Given the description of an element on the screen output the (x, y) to click on. 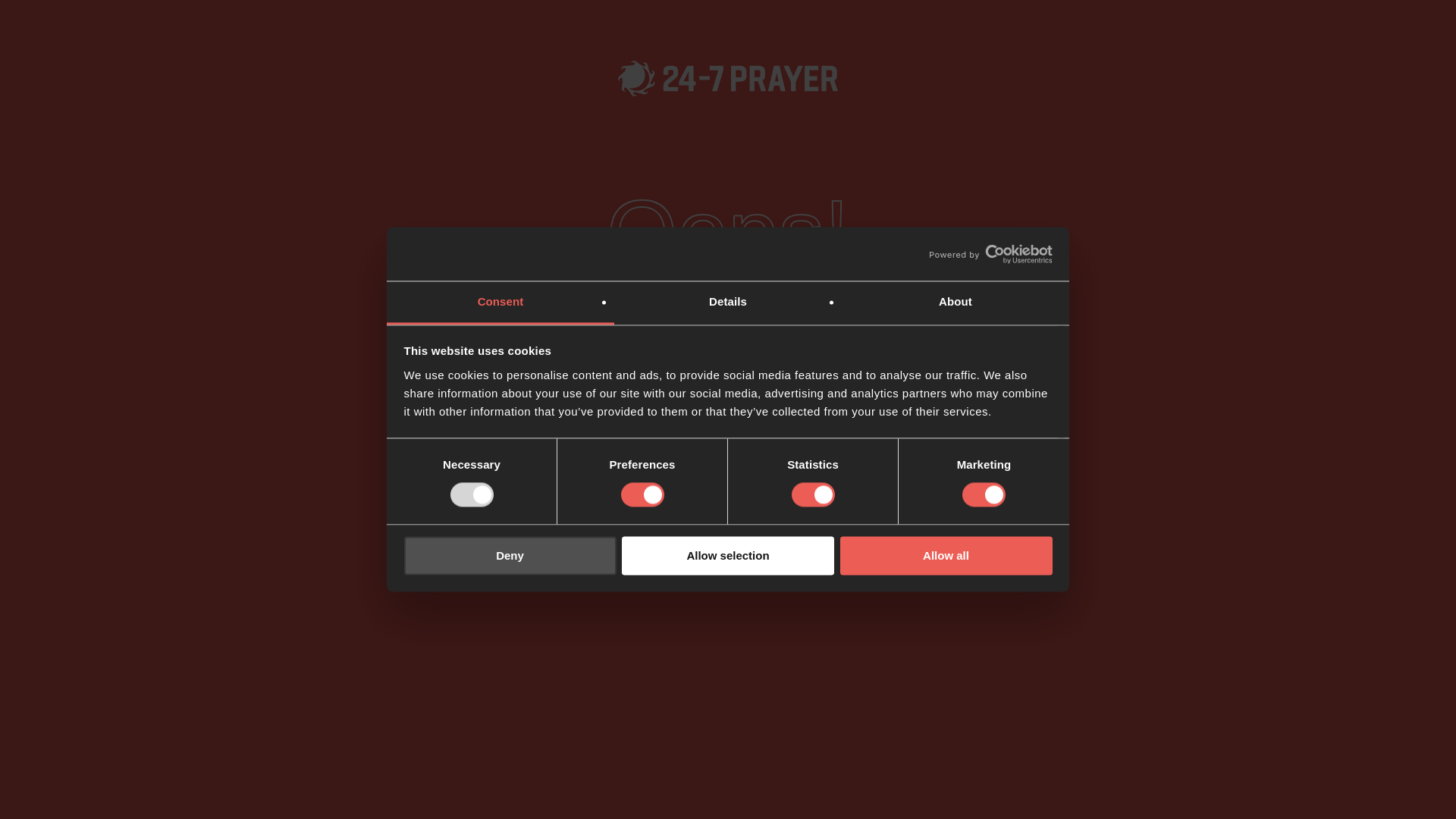
Details (727, 302)
Consent (500, 302)
About (954, 302)
